Given the description of an element on the screen output the (x, y) to click on. 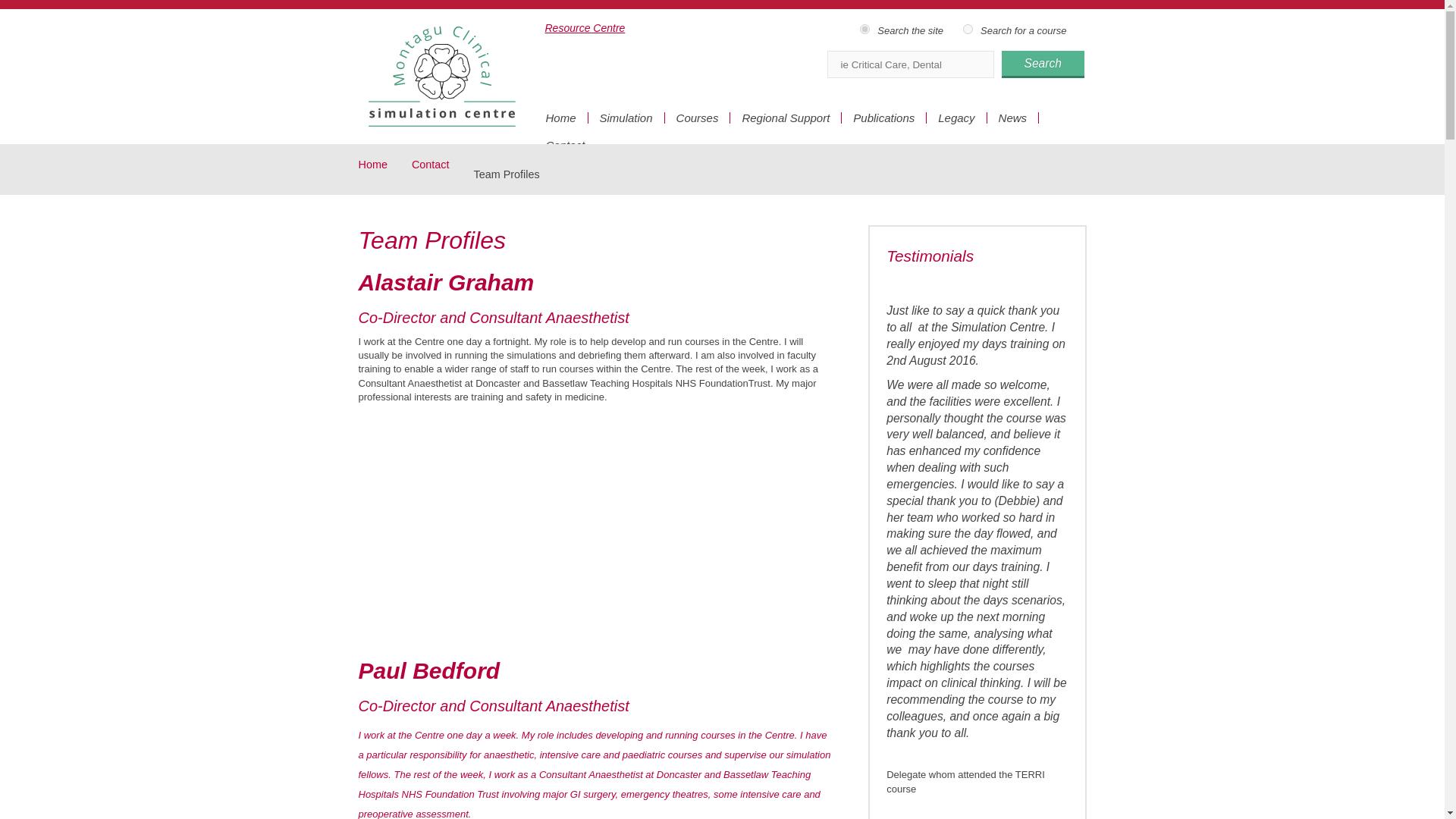
Home (384, 163)
Home (384, 163)
Courses (697, 117)
Contact (443, 163)
Resource Centre (574, 22)
Simulation (626, 117)
Legacy (956, 117)
Search (1042, 63)
Regional Support (785, 117)
Contact (564, 144)
